Given the description of an element on the screen output the (x, y) to click on. 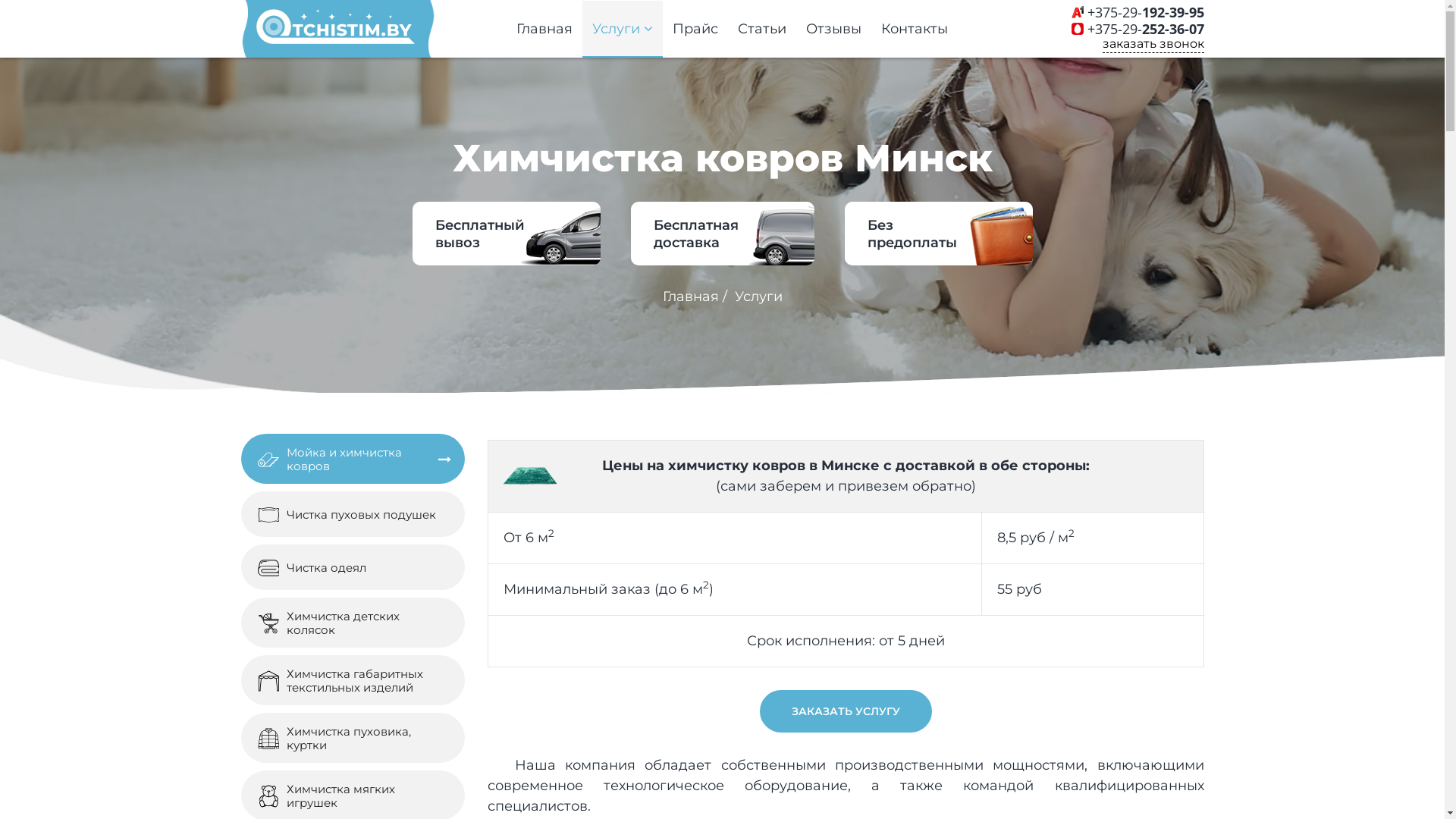
+375-29-252-36-07 Element type: text (1145, 28)
+375-29-192-39-95 Element type: text (1145, 12)
